Given the description of an element on the screen output the (x, y) to click on. 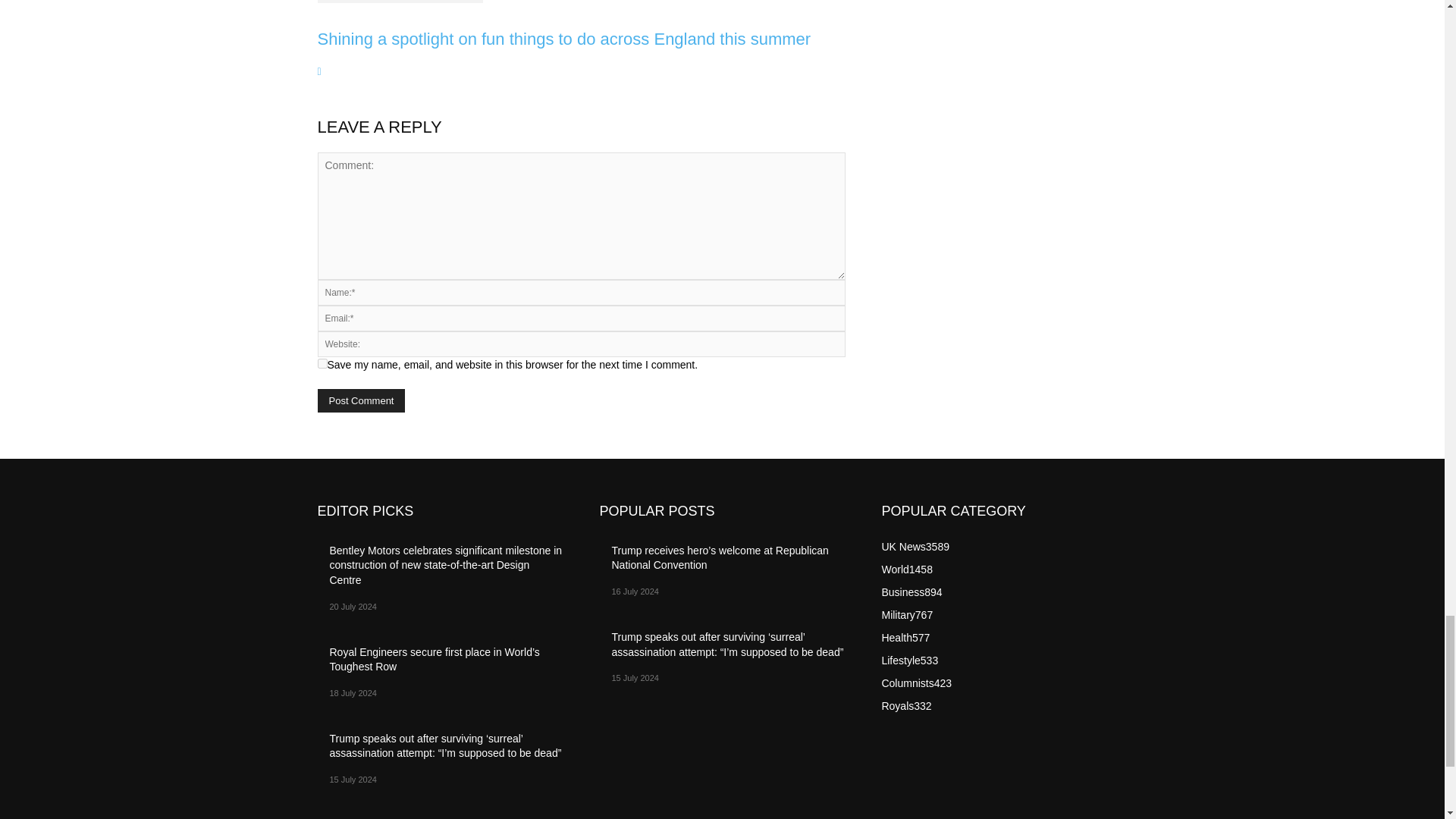
Post Comment (360, 400)
yes (321, 363)
